Given the description of an element on the screen output the (x, y) to click on. 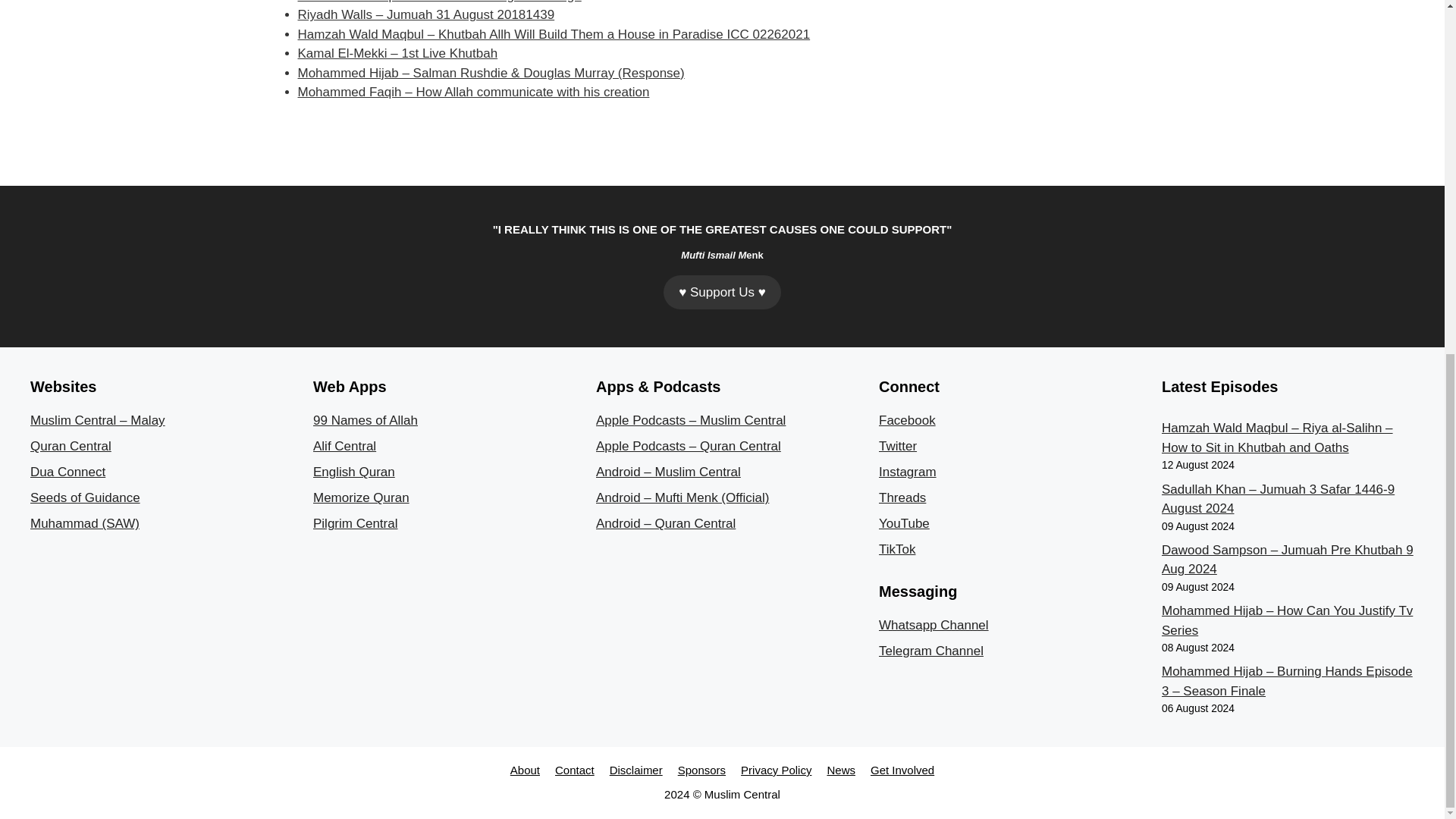
Memorize Quran (361, 497)
99 Names of Allah (365, 420)
Dua Connect (67, 472)
Pilgrim Central (355, 523)
English Quran (353, 472)
Alif Central (344, 445)
Seeds of Guidance (84, 497)
Quran Central (71, 445)
